Given the description of an element on the screen output the (x, y) to click on. 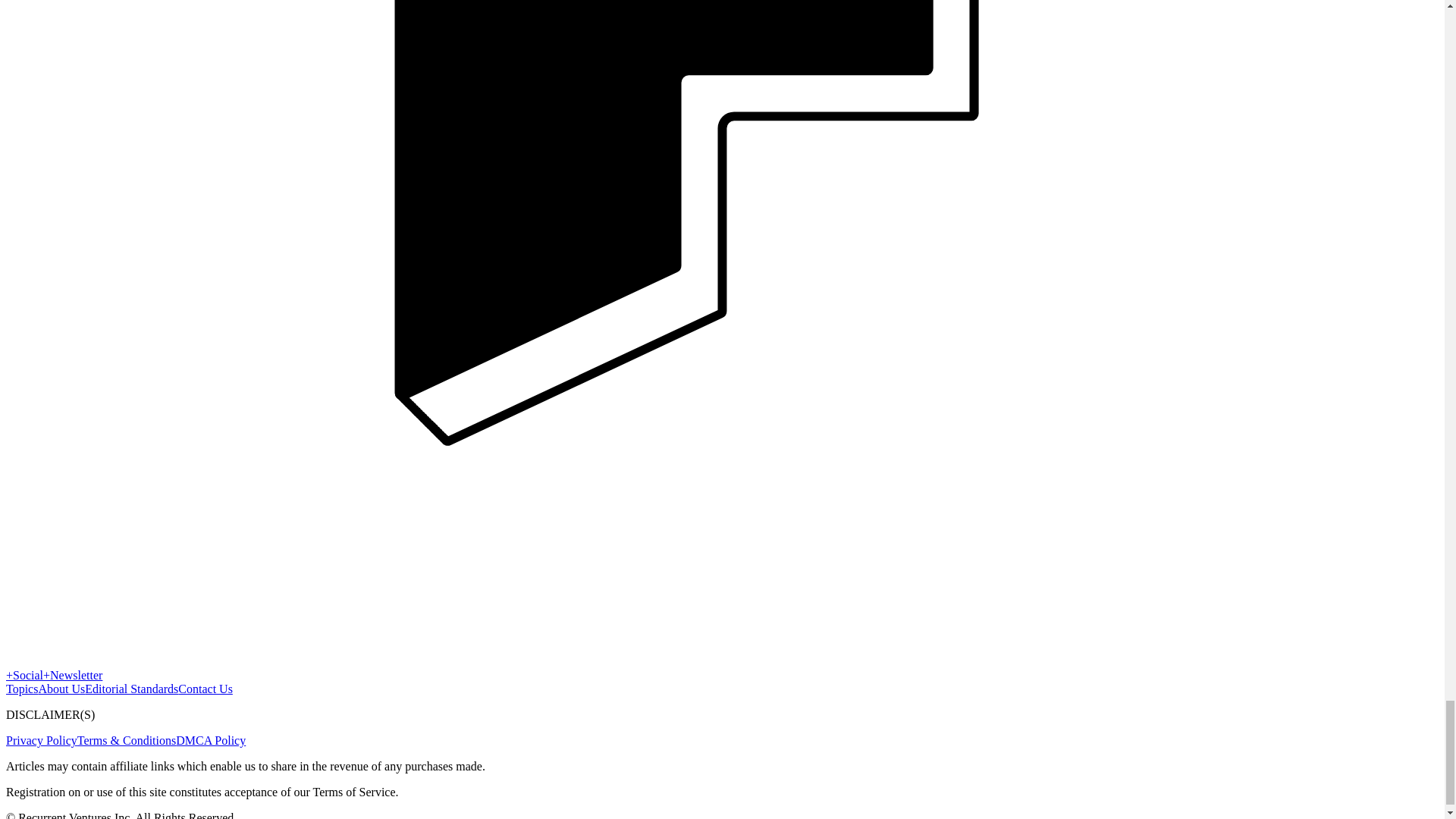
Contact Us (204, 688)
Editorial Standards (130, 688)
Topics (21, 688)
DMCA Policy (211, 739)
Privacy Policy (41, 739)
About Us (60, 688)
